Given the description of an element on the screen output the (x, y) to click on. 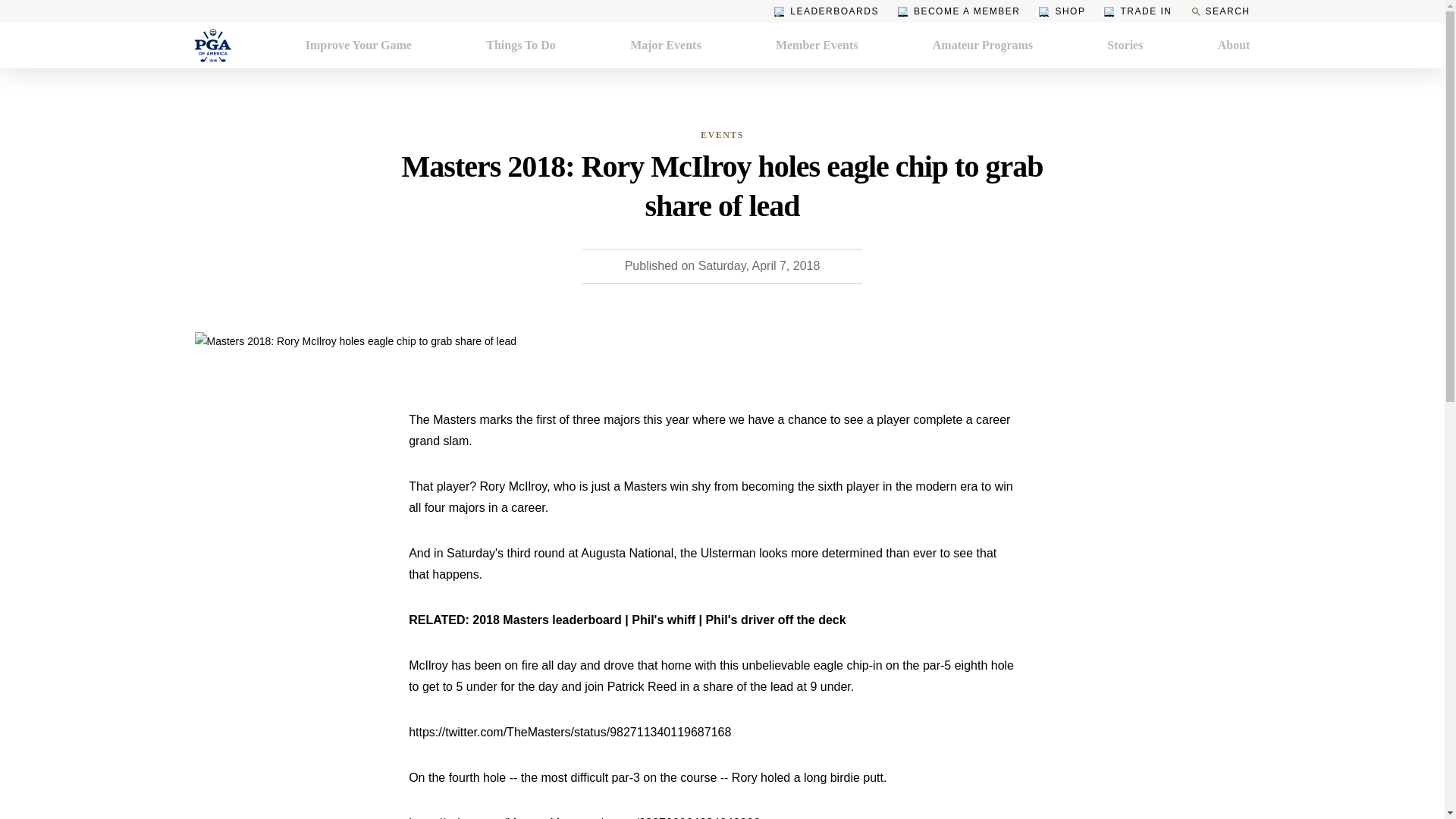
SEARCH (1220, 11)
Improve Your Game (358, 44)
Things To Do (521, 44)
Member Events (817, 44)
Amateur Programs (982, 44)
LEADERBOARDS (826, 10)
TRADE IN (1137, 10)
SHOP (1061, 10)
BECOME A MEMBER (959, 10)
Major Events (665, 44)
